Given the description of an element on the screen output the (x, y) to click on. 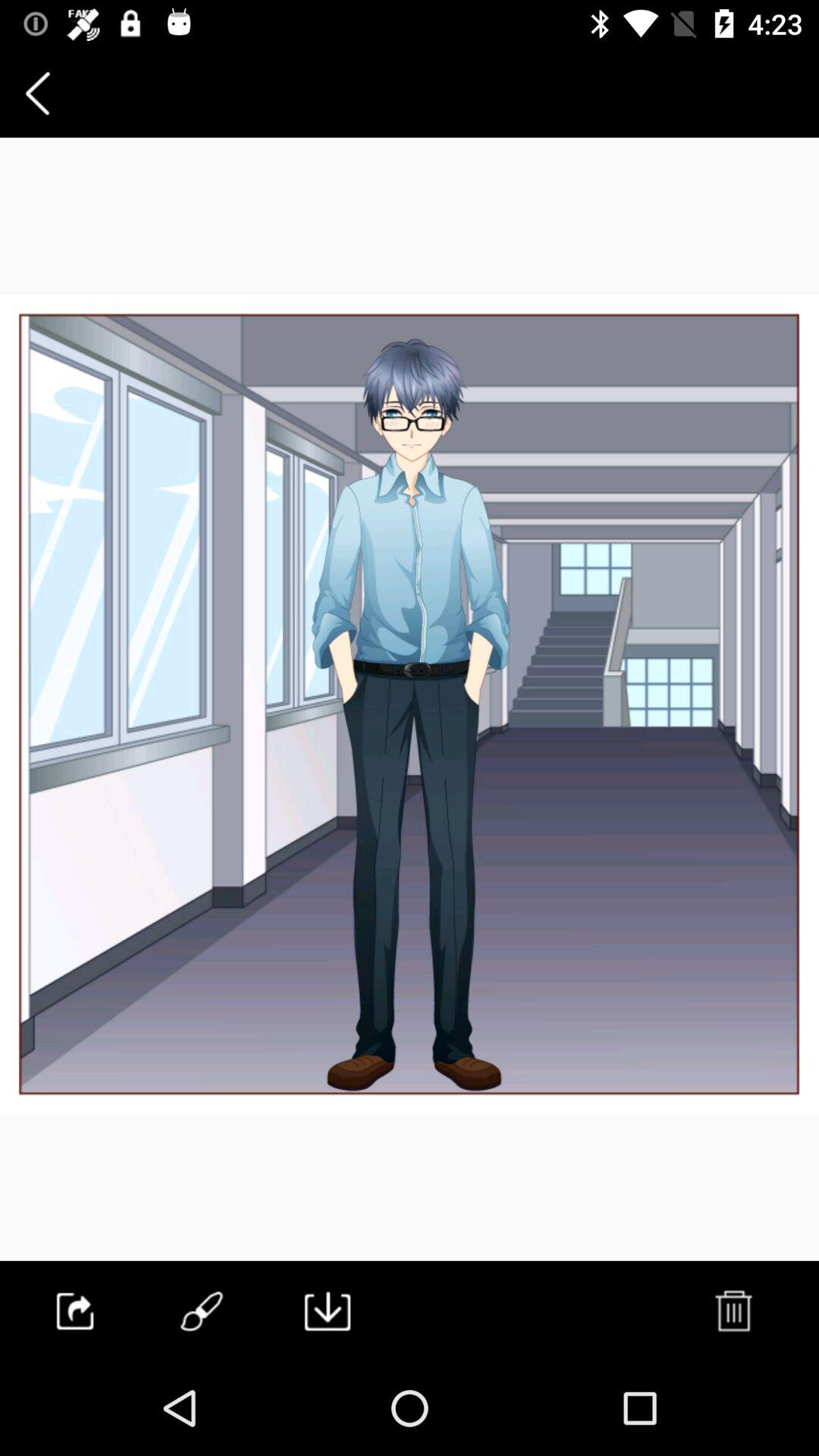
open item at the center (409, 703)
